Given the description of an element on the screen output the (x, y) to click on. 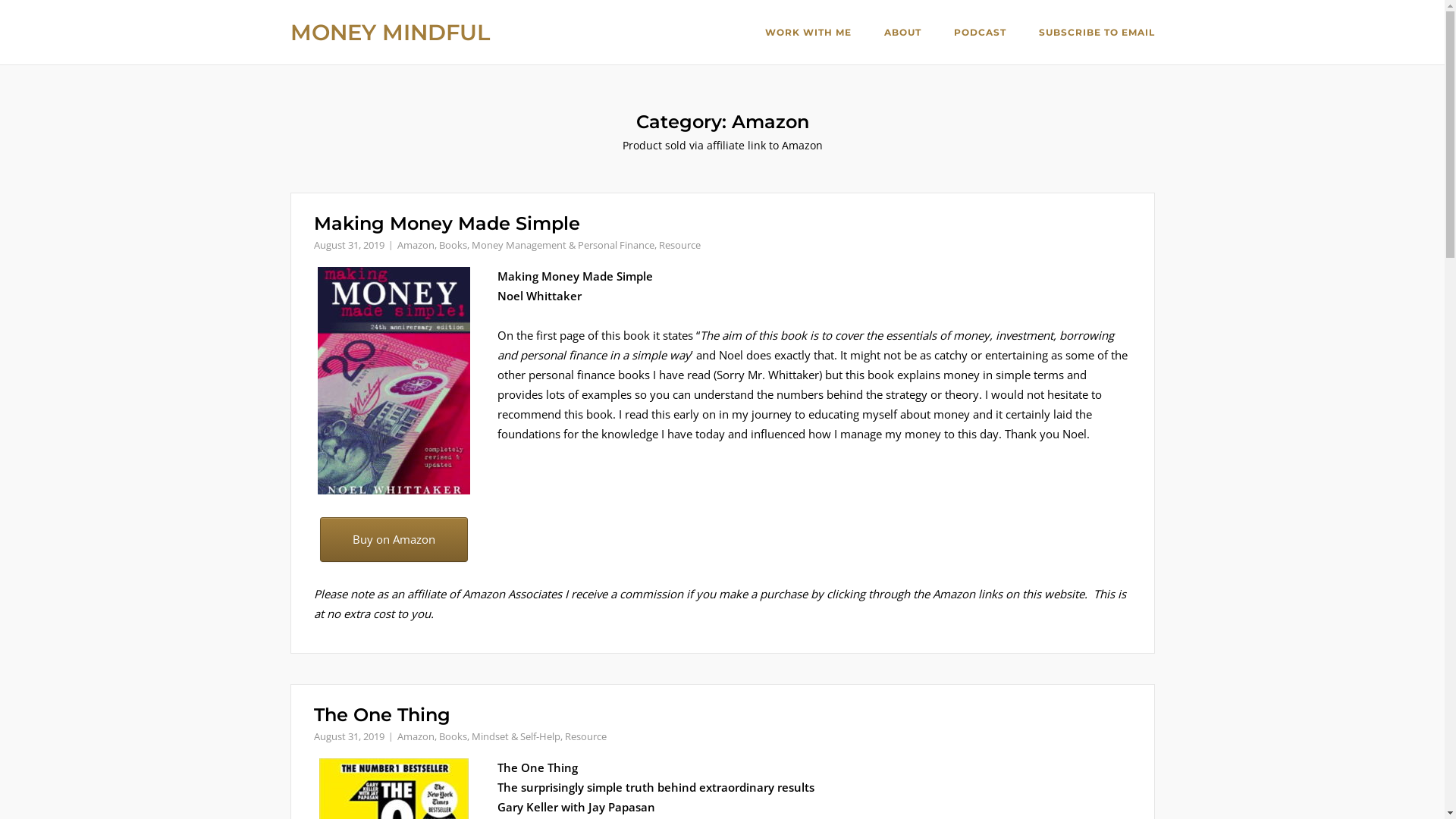
Amazon Element type: text (415, 736)
PODCAST Element type: text (979, 32)
The One Thing Element type: text (381, 714)
SUBSCRIBE TO EMAIL Element type: text (1096, 33)
Making Money Made Simple Element type: text (446, 223)
Money Management & Personal Finance Element type: text (562, 244)
Books Element type: text (452, 736)
August 31, 2019 Element type: text (348, 244)
Resource Element type: text (584, 736)
Books Element type: text (452, 244)
August 31, 2019 Element type: text (348, 736)
MONEY MINDFUL Element type: text (389, 31)
WORK WITH ME Element type: text (807, 33)
ABOUT Element type: text (902, 32)
Mindset & Self-Help Element type: text (515, 736)
Resource Element type: text (678, 244)
Amazon Element type: text (415, 244)
Buy on Amazon Element type: text (393, 539)
